Given the description of an element on the screen output the (x, y) to click on. 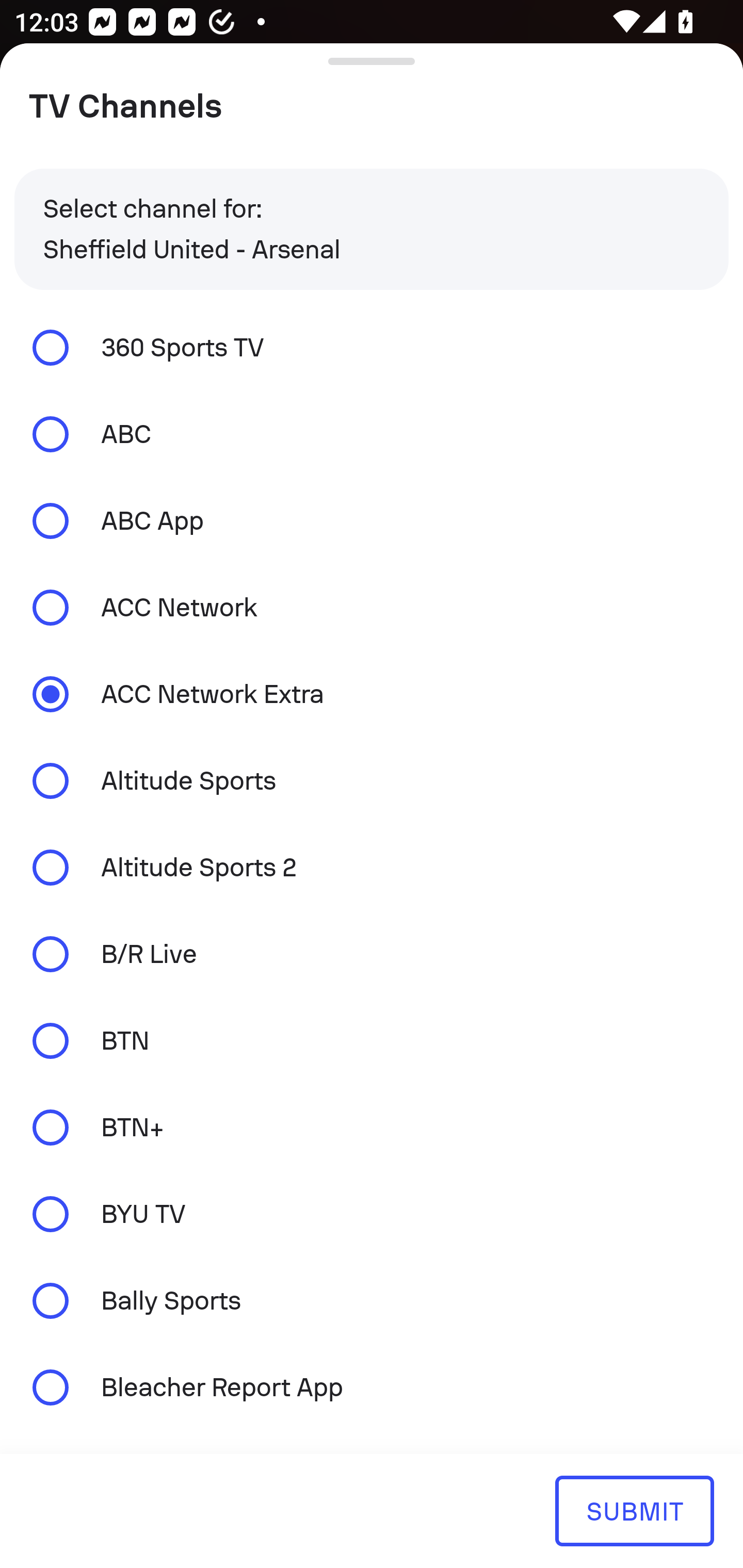
360 Sports TV (371, 347)
ABC (371, 434)
ABC App (371, 521)
ACC Network (371, 607)
ACC Network Extra (371, 693)
Altitude Sports (371, 780)
Altitude Sports 2 (371, 867)
B/R Live (371, 954)
BTN (371, 1040)
BTN+ (371, 1127)
BYU TV (371, 1214)
Bally Sports (371, 1300)
Bleacher Report App (371, 1386)
SUBMIT (634, 1510)
